Given the description of an element on the screen output the (x, y) to click on. 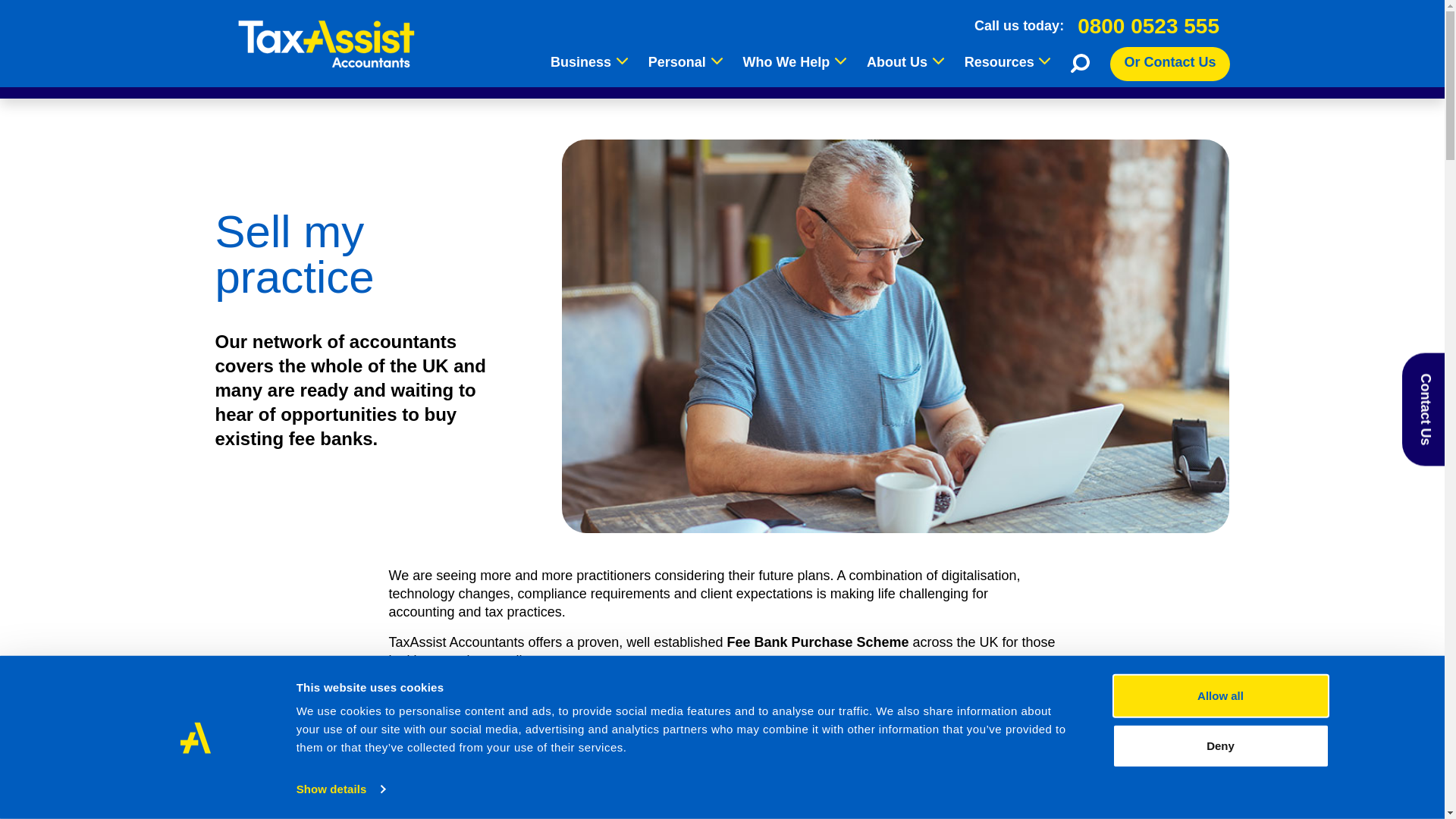
Show details (340, 789)
